Given the description of an element on the screen output the (x, y) to click on. 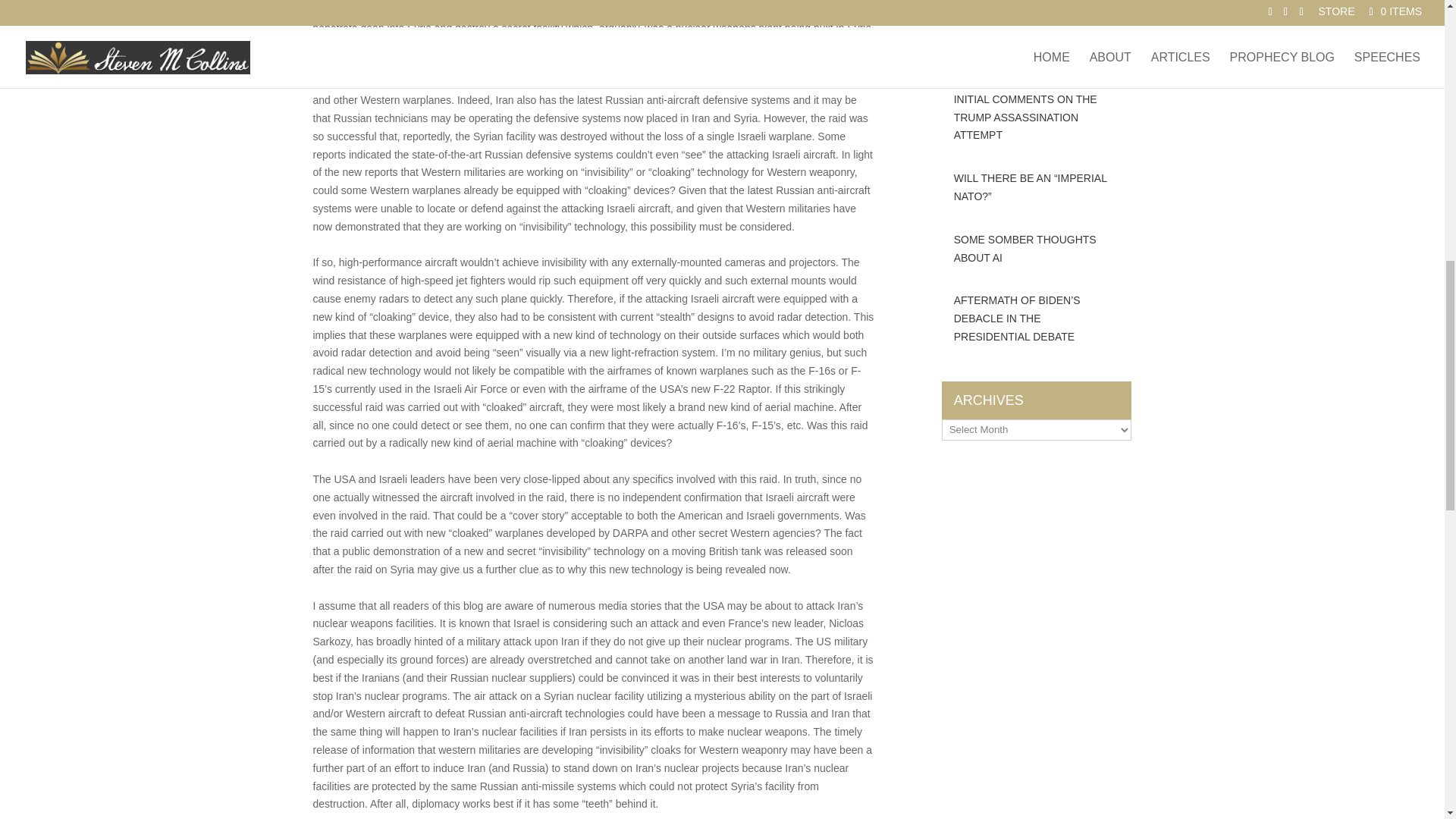
CAN CHINA TRACK ALL US WARSHIPS? (1037, 47)
INITIAL COMMENTS ON THE TRUMP ASSASSINATION ATTEMPT (1037, 117)
SOME SOMBER THOUGHTS ABOUT AI (1037, 249)
